Given the description of an element on the screen output the (x, y) to click on. 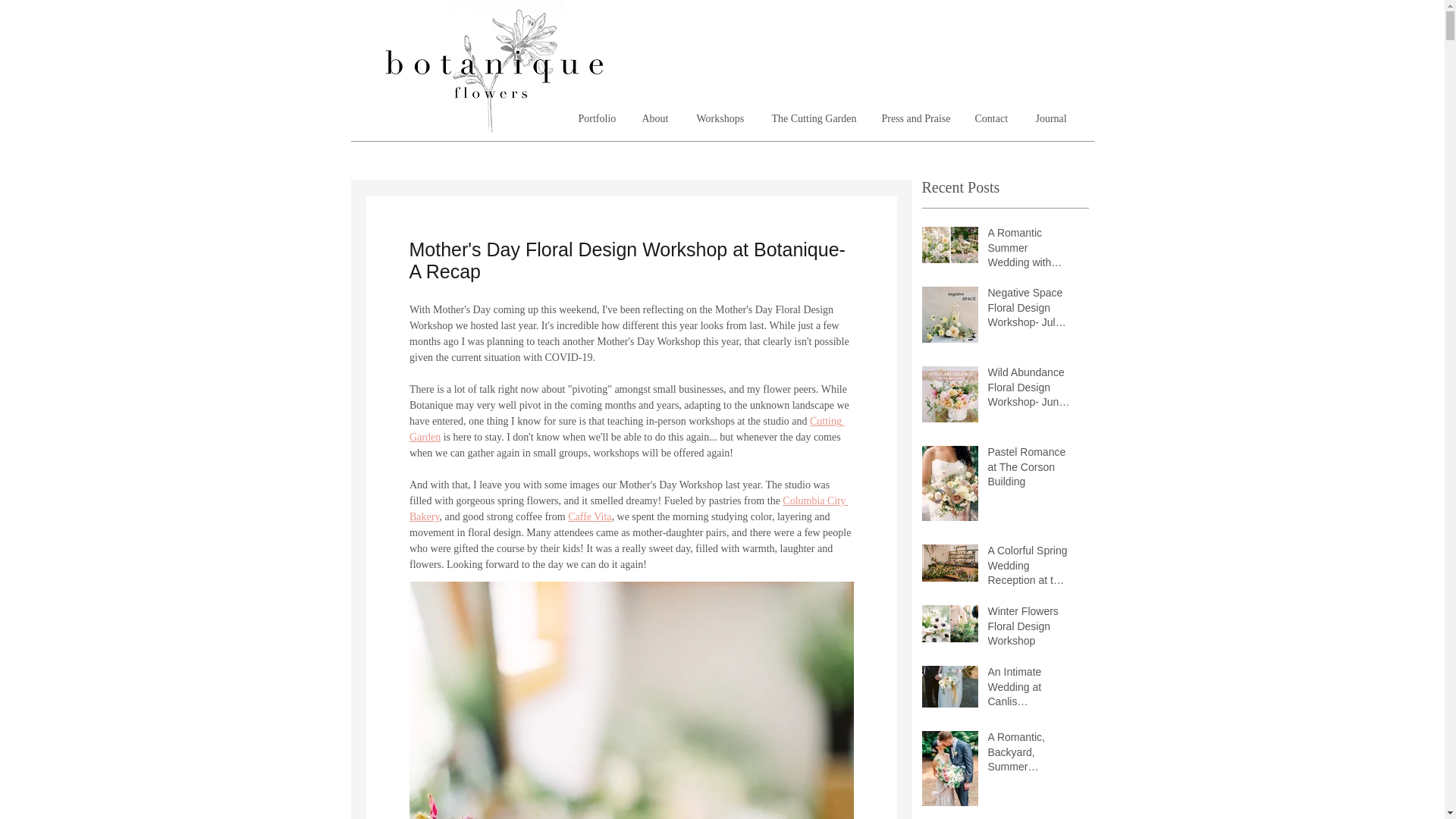
Wild Abundance Floral Design Workshop- June 9th (1027, 390)
Workshops (722, 119)
Portfolio (598, 119)
Negative Space Floral Design Workshop- July 14th, 2024 (1027, 310)
Pastel Romance at The Corson Building (1027, 470)
Columbia City Bakery (628, 508)
The Cutting Garden (814, 119)
Contact (992, 119)
Journal (1052, 119)
Cutting Garden (626, 429)
